Given the description of an element on the screen output the (x, y) to click on. 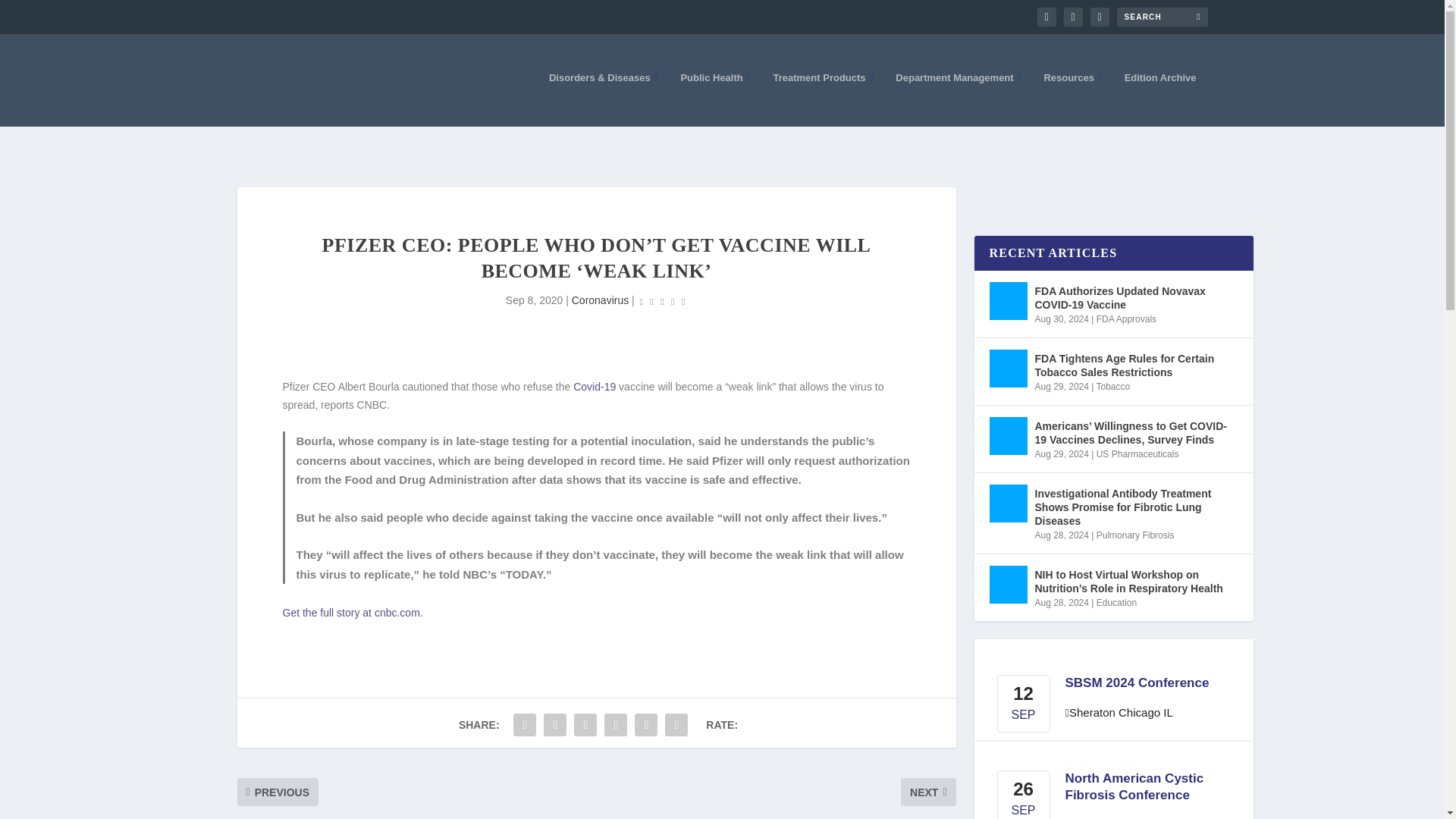
Public Health (714, 98)
Coronavirus (600, 300)
Treatment Products (822, 98)
Search for: (1161, 16)
Edition Archive (1160, 98)
Department Management (957, 98)
Rating: 0.00 (662, 301)
Get the full story at cnbc.com. (352, 612)
Resources (1071, 98)
